Given the description of an element on the screen output the (x, y) to click on. 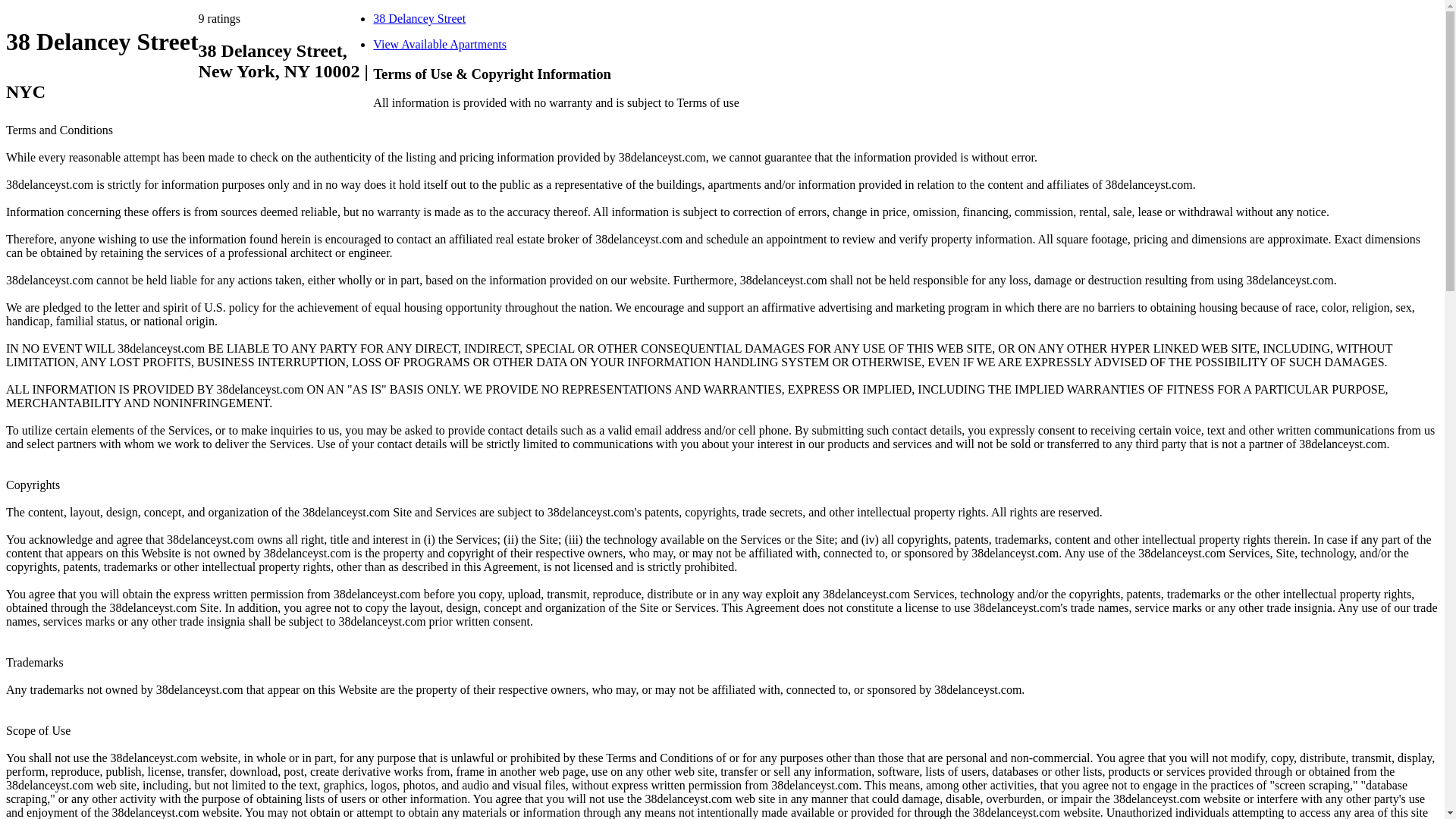
38 Delancey Street Element type: text (419, 18)
View Available Apartments Element type: text (439, 43)
